Given the description of an element on the screen output the (x, y) to click on. 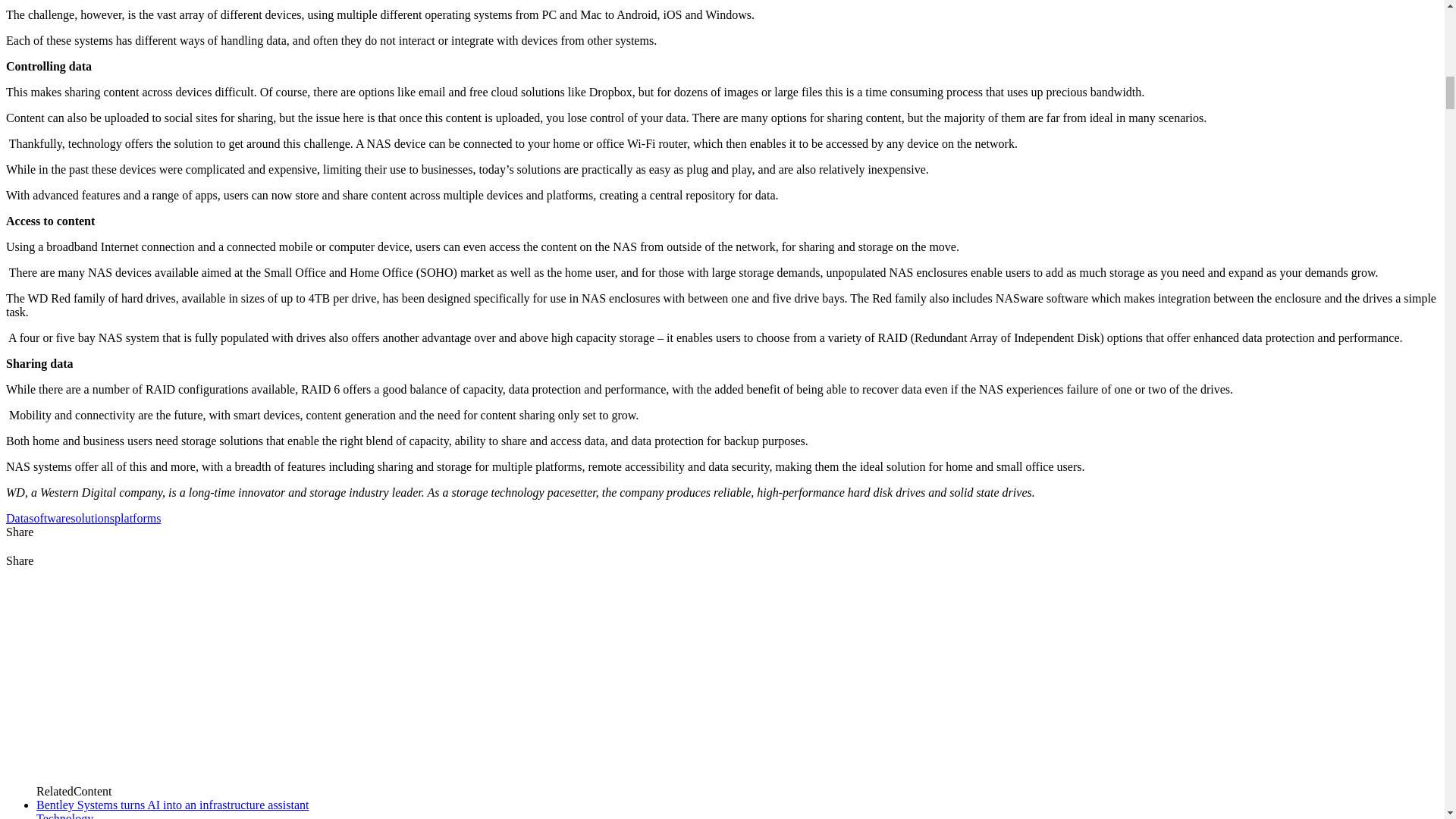
Data (17, 517)
platforms (137, 517)
solutions (92, 517)
software (49, 517)
